Given the description of an element on the screen output the (x, y) to click on. 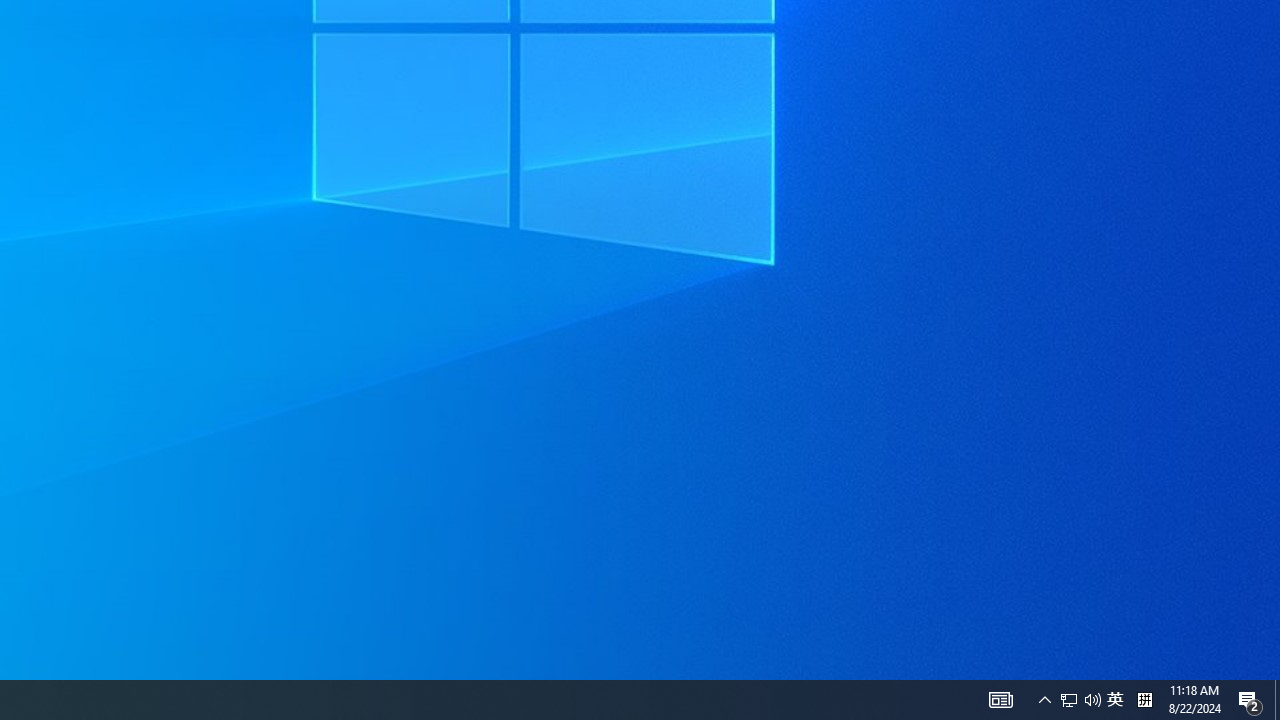
User Promoted Notification Area (1080, 699)
Tray Input Indicator - Chinese (Simplified, China) (1115, 699)
Q2790: 100% (1144, 699)
Show desktop (1092, 699)
Notification Chevron (1277, 699)
AutomationID: 4105 (1044, 699)
Action Center, 2 new notifications (1000, 699)
